Given the description of an element on the screen output the (x, y) to click on. 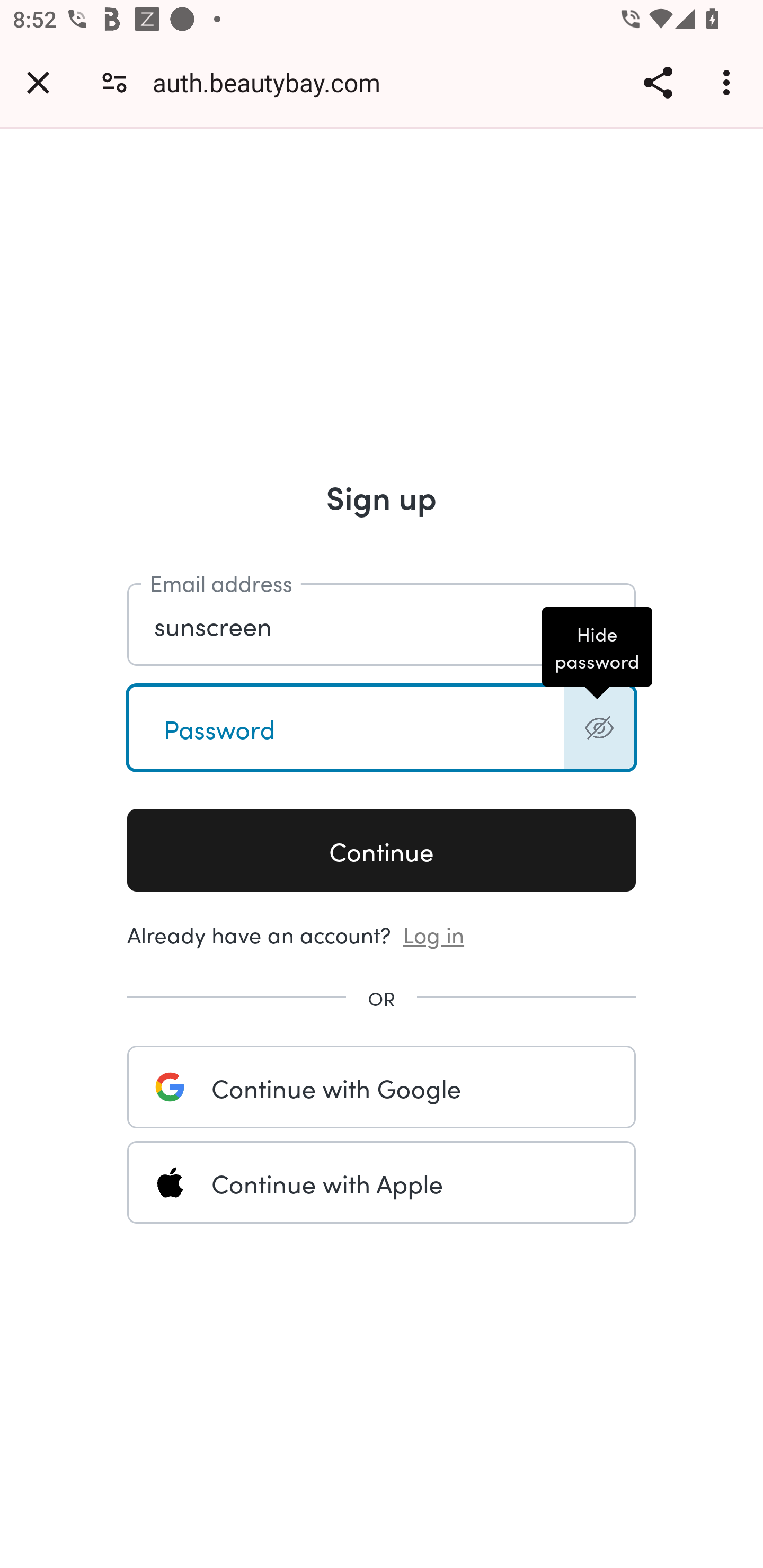
Close tab (38, 82)
Share (657, 82)
Customize and control Google Chrome (729, 82)
Connection is secure (114, 81)
auth.beautybay.com (272, 81)
sunscreen (381, 624)
Hide password (599, 727)
Continue (381, 850)
Log in (433, 933)
Continue with Google (381, 1086)
Continue with Apple (381, 1182)
